Given the description of an element on the screen output the (x, y) to click on. 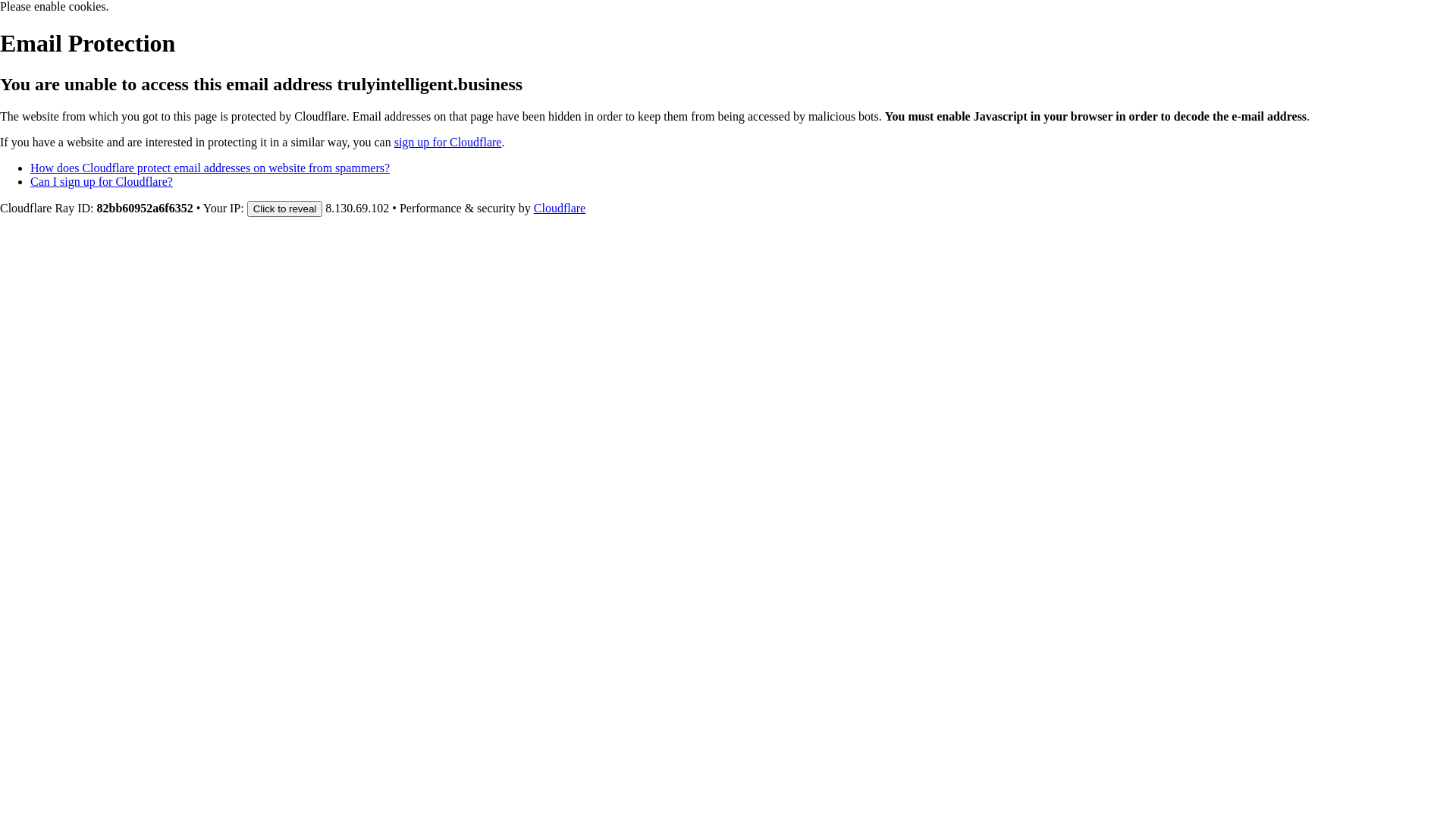
Cloudflare Element type: text (559, 207)
sign up for Cloudflare Element type: text (448, 141)
Click to reveal Element type: text (285, 208)
Can I sign up for Cloudflare? Element type: text (101, 181)
